Given the description of an element on the screen output the (x, y) to click on. 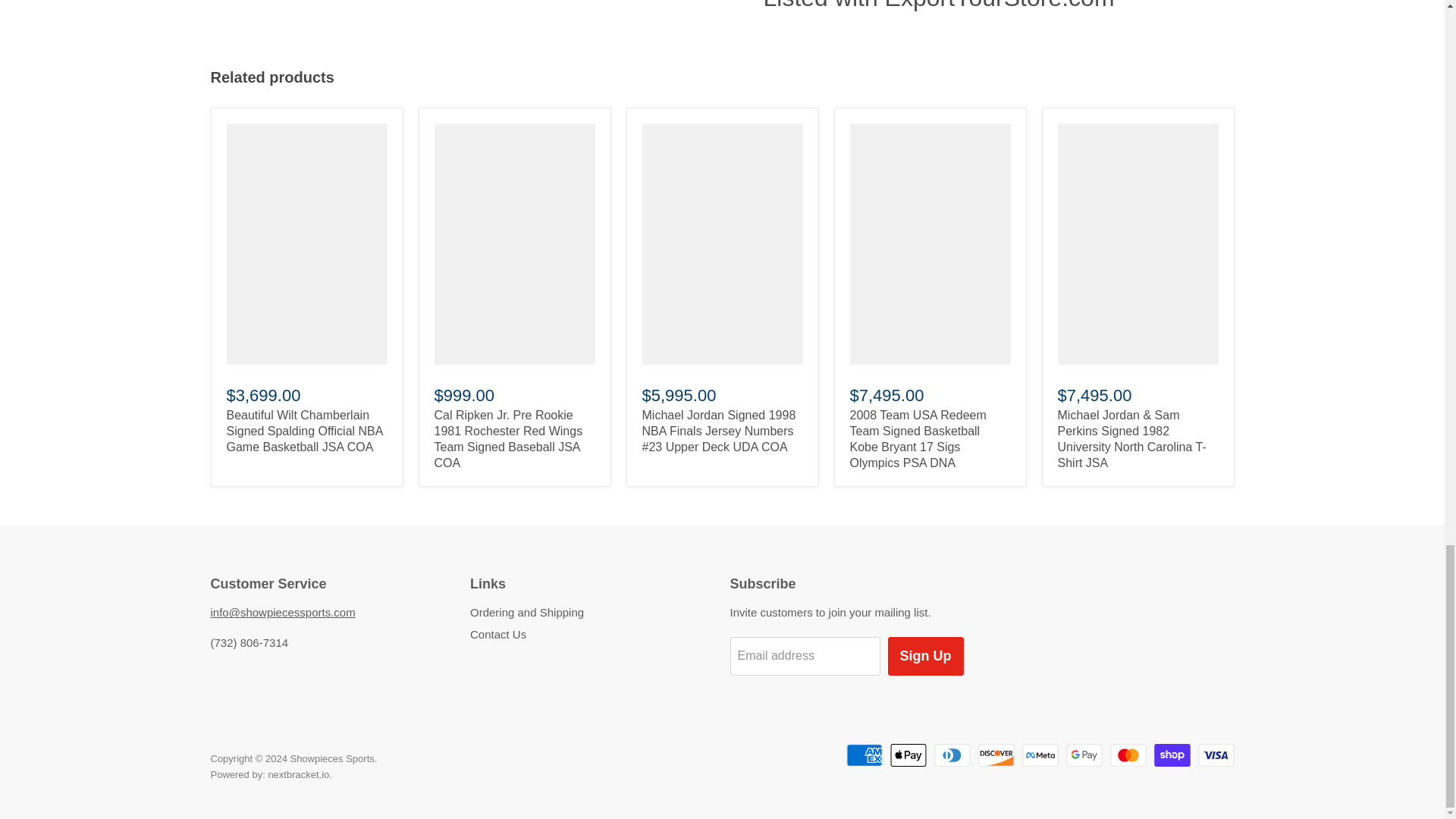
Diners Club (952, 754)
Google Pay (1083, 754)
Discover (996, 754)
Apple Pay (907, 754)
Mastercard (1128, 754)
American Express (863, 754)
Shop Pay (1172, 754)
Meta Pay (1040, 754)
